Given the description of an element on the screen output the (x, y) to click on. 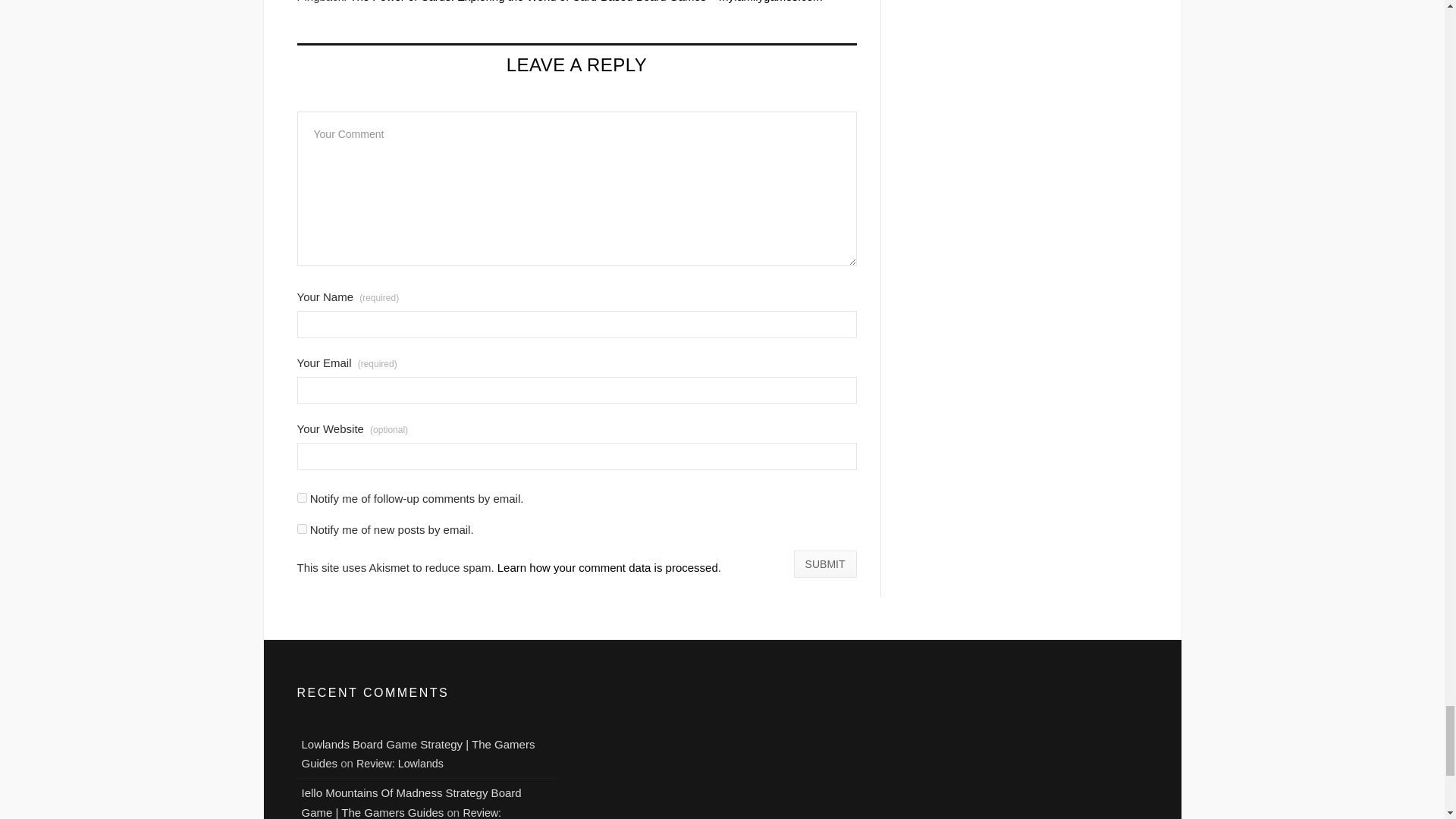
Submit (825, 564)
subscribe (302, 528)
subscribe (302, 497)
